Given the description of an element on the screen output the (x, y) to click on. 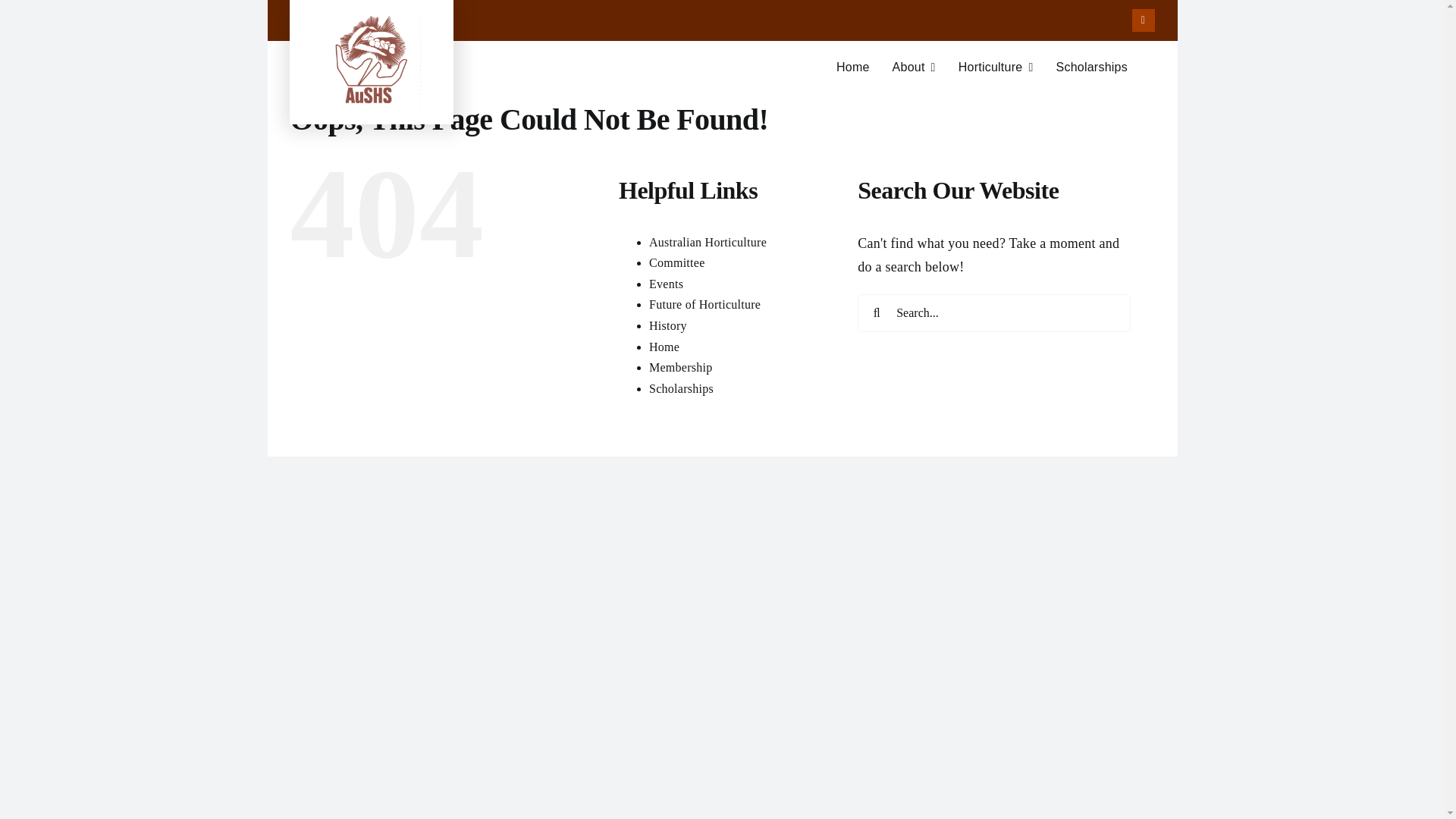
Scholarships (681, 388)
History (668, 325)
Home (664, 345)
Membership (681, 367)
Home (852, 67)
Horticulture (995, 67)
Future of Horticulture (721, 74)
About (704, 304)
Scholarships (914, 67)
Events (1090, 67)
Committee (665, 283)
Australian Horticulture (676, 262)
